Given the description of an element on the screen output the (x, y) to click on. 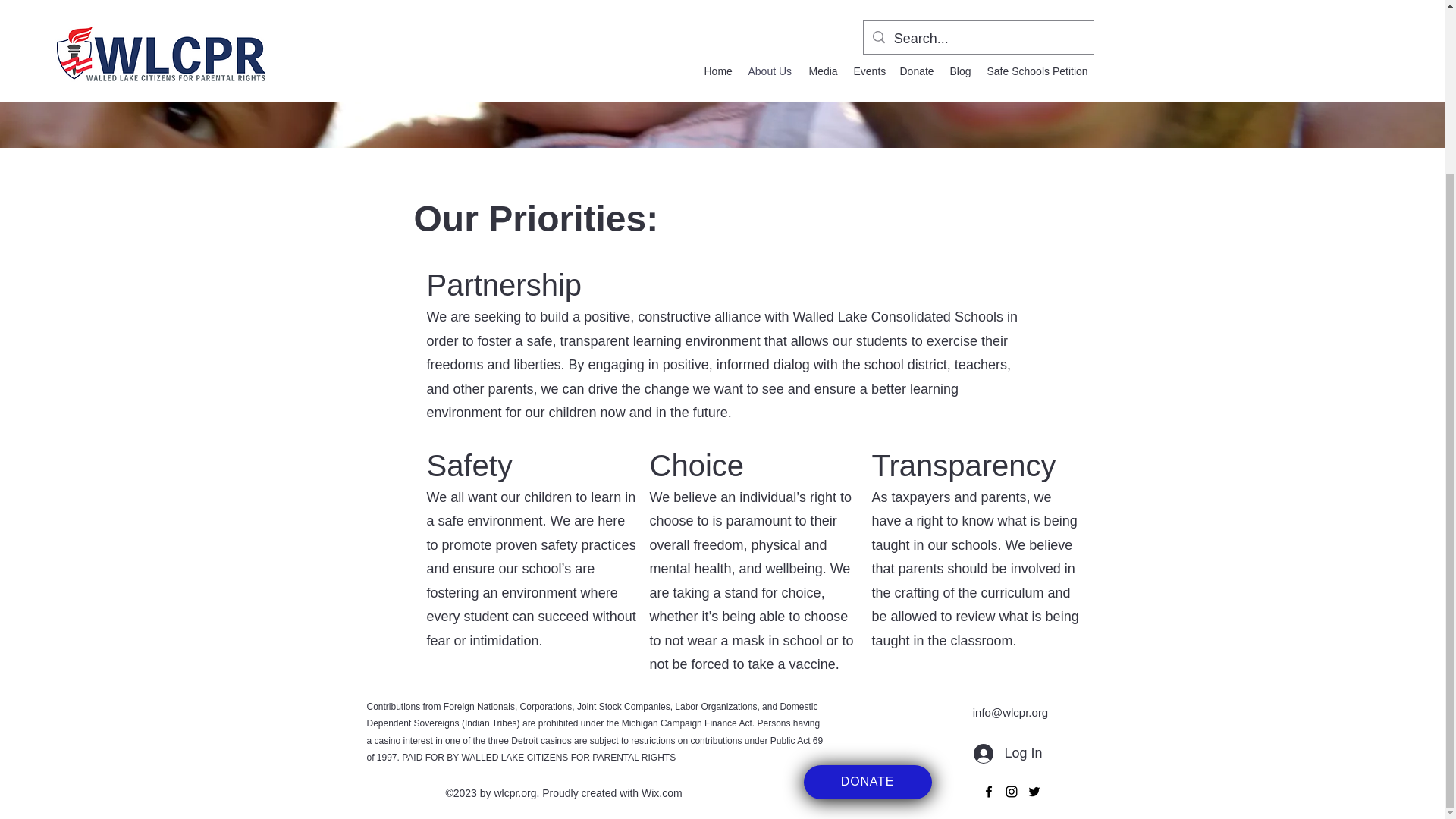
DONATE (867, 781)
Log In (1007, 753)
